Given the description of an element on the screen output the (x, y) to click on. 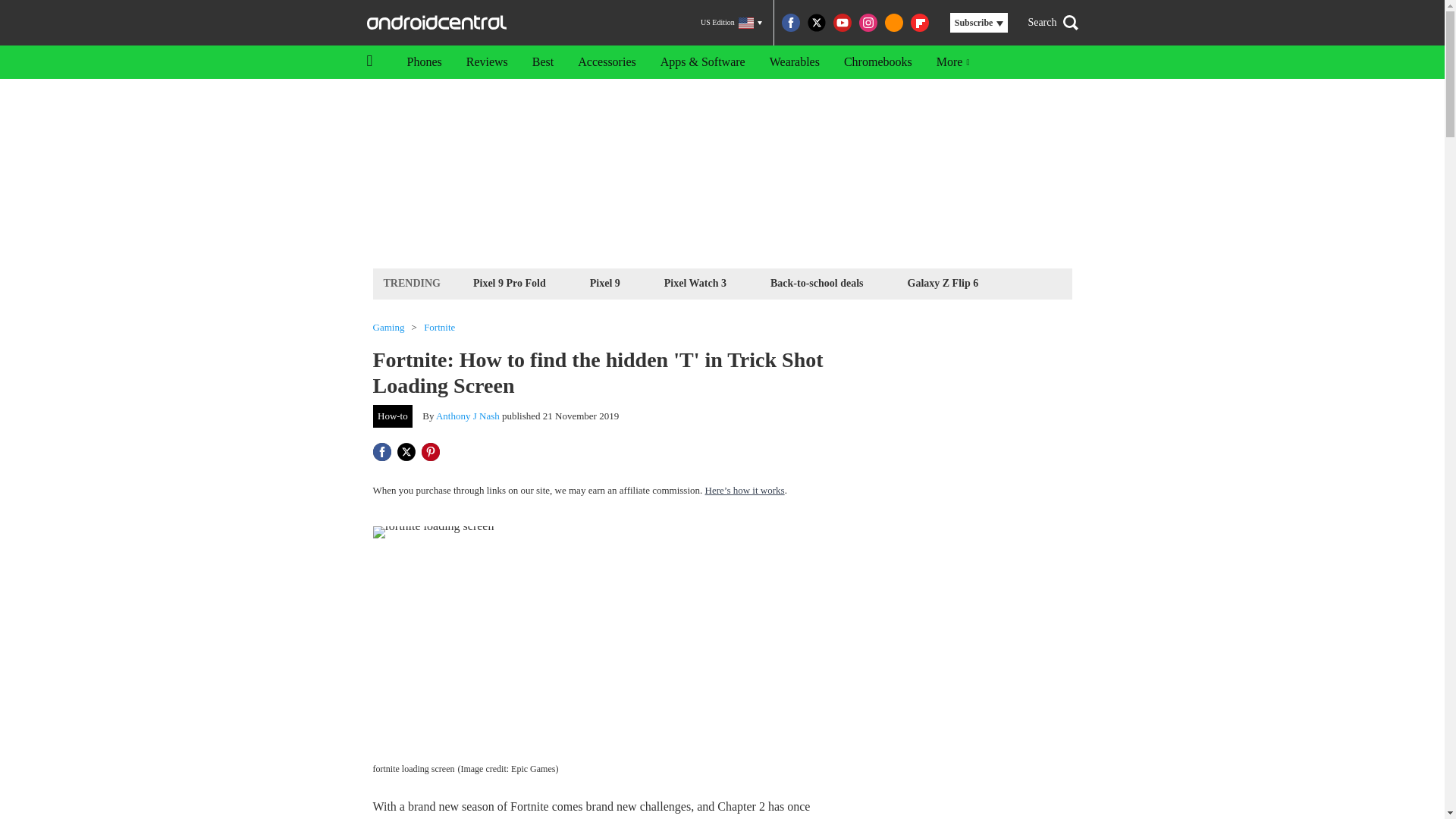
Phones (423, 61)
Chromebooks (877, 61)
Pixel 9 Pro Fold (509, 282)
How-to (392, 415)
Best (542, 61)
Pixel 9 (605, 282)
Galaxy Z Flip 6 (943, 282)
Accessories (606, 61)
Wearables (794, 61)
Fortnite (438, 327)
